Given the description of an element on the screen output the (x, y) to click on. 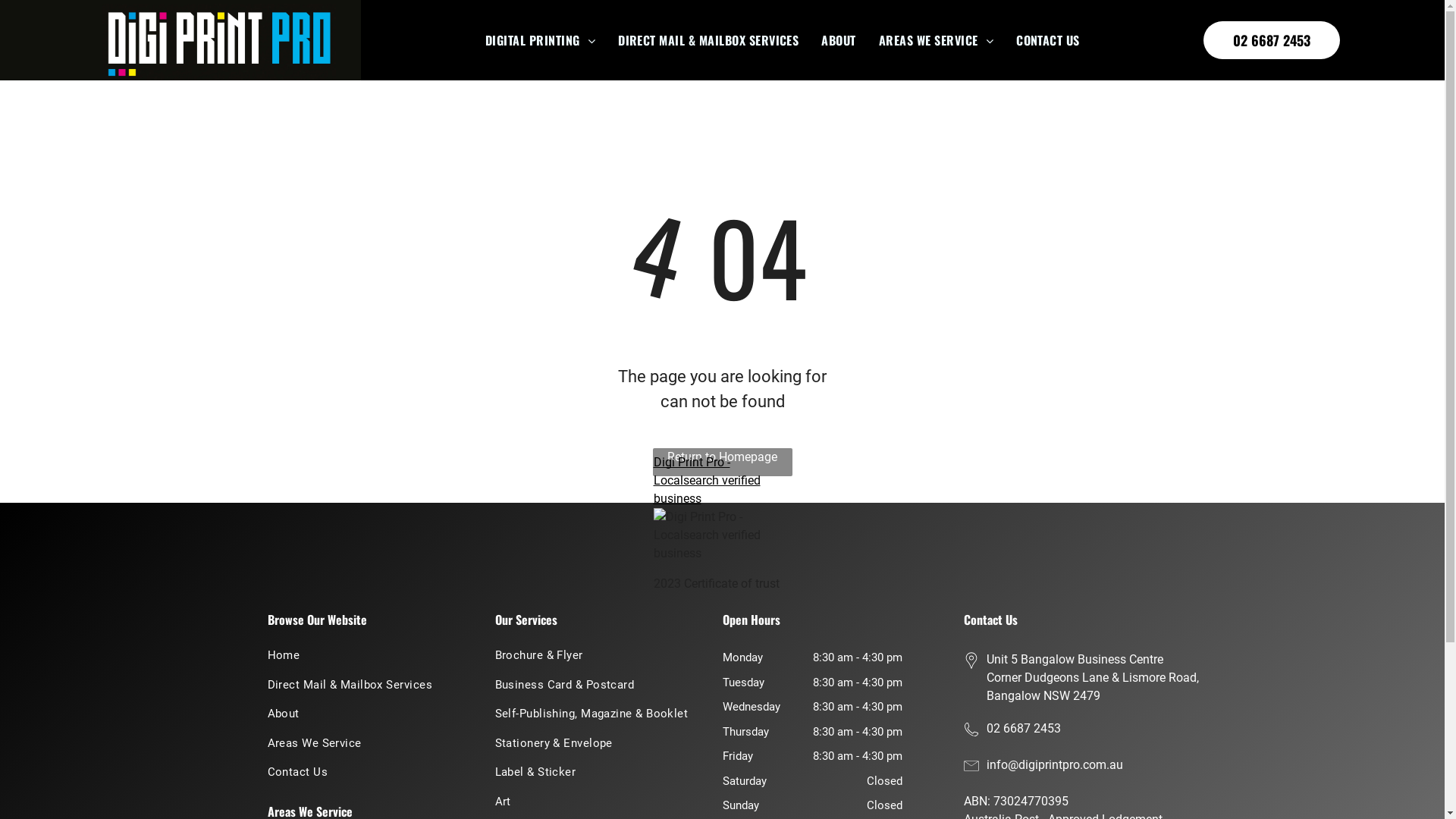
About Element type: text (365, 716)
DIRECT MAIL & MAILBOX SERVICES Element type: text (707, 39)
DIGITAL PRINTING Element type: text (539, 39)
Digi Print Pro - Localsearch verified business Element type: text (706, 480)
Business Card & Postcard Element type: text (593, 687)
Direct Mail & Mailbox Services Element type: text (365, 687)
AREAS WE SERVICE Element type: text (935, 39)
ABOUT Element type: text (837, 39)
02 6687 2453 Element type: text (1022, 728)
Stationery & Envelope Element type: text (593, 746)
Contact Us Element type: text (365, 775)
Return to Homepage Element type: text (721, 462)
info@digiprintpro.com.au Element type: text (1053, 764)
Brochure & Flyer Element type: text (593, 658)
Label & Sticker Element type: text (593, 775)
Self-Publishing, Magazine & Booklet Element type: text (593, 716)
CONTACT US Element type: text (1047, 39)
Art Element type: text (593, 804)
Areas We Service Element type: text (365, 746)
Home Element type: text (365, 658)
02 6687 2453 Element type: text (1271, 40)
